Given the description of an element on the screen output the (x, y) to click on. 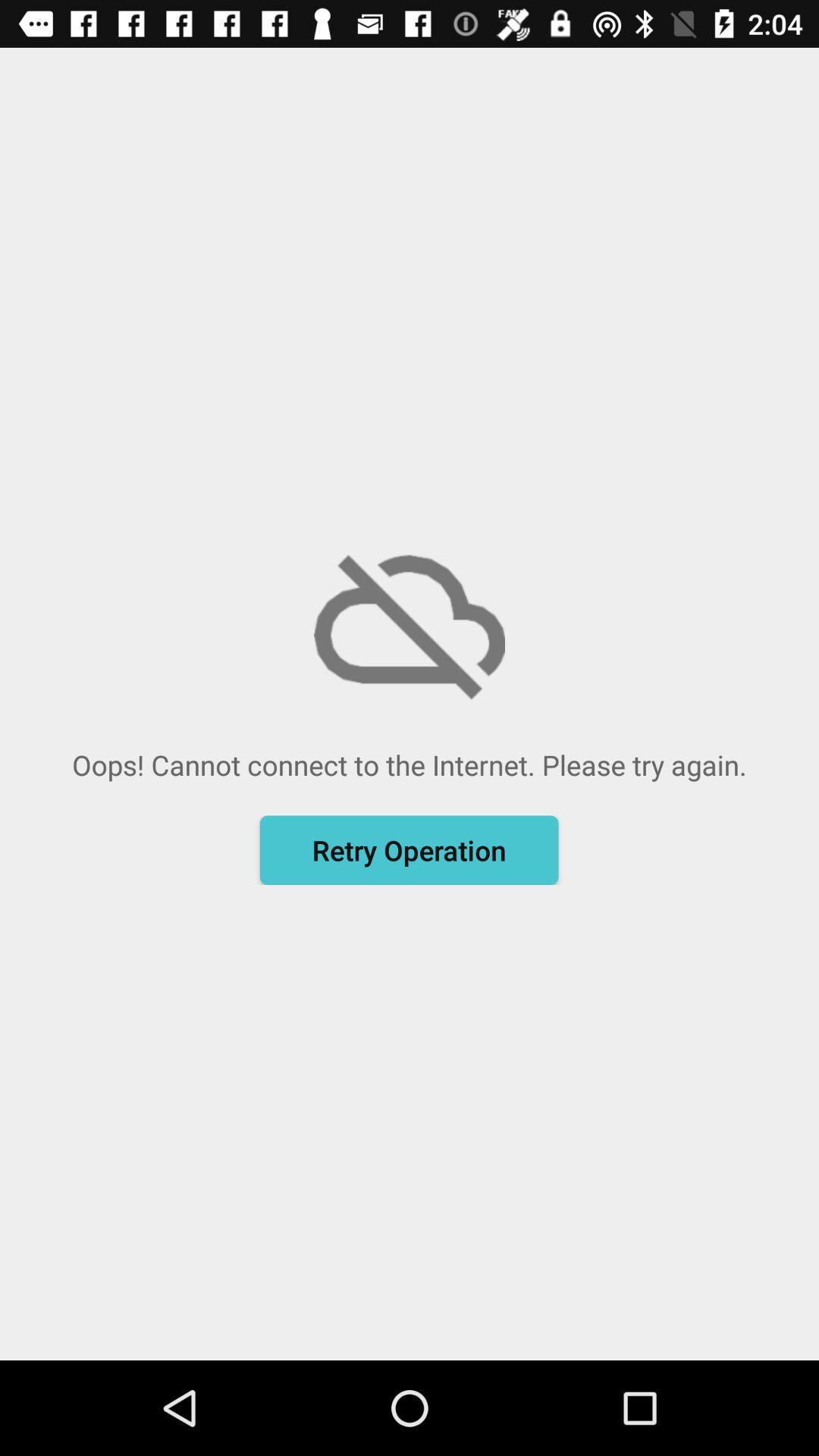
press the retry operation (408, 849)
